Given the description of an element on the screen output the (x, y) to click on. 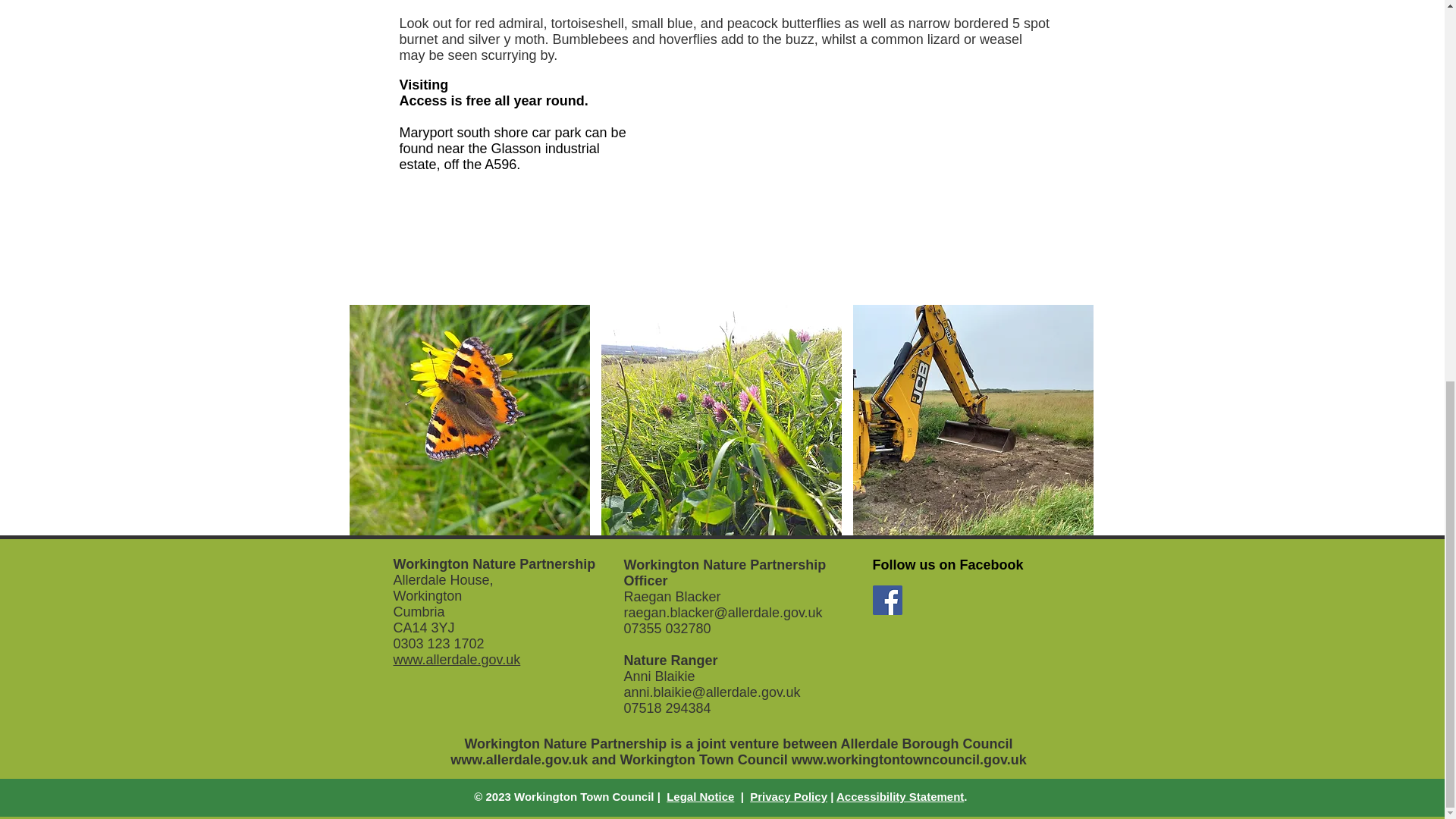
Legal Notice (699, 796)
www.allerdale.gov.uk (456, 659)
www.workingtontowncouncil.gov.uk (909, 759)
www.allerdale.gov.uk (518, 759)
Privacy Policy (788, 796)
Accessibility Statement (899, 796)
